Given the description of an element on the screen output the (x, y) to click on. 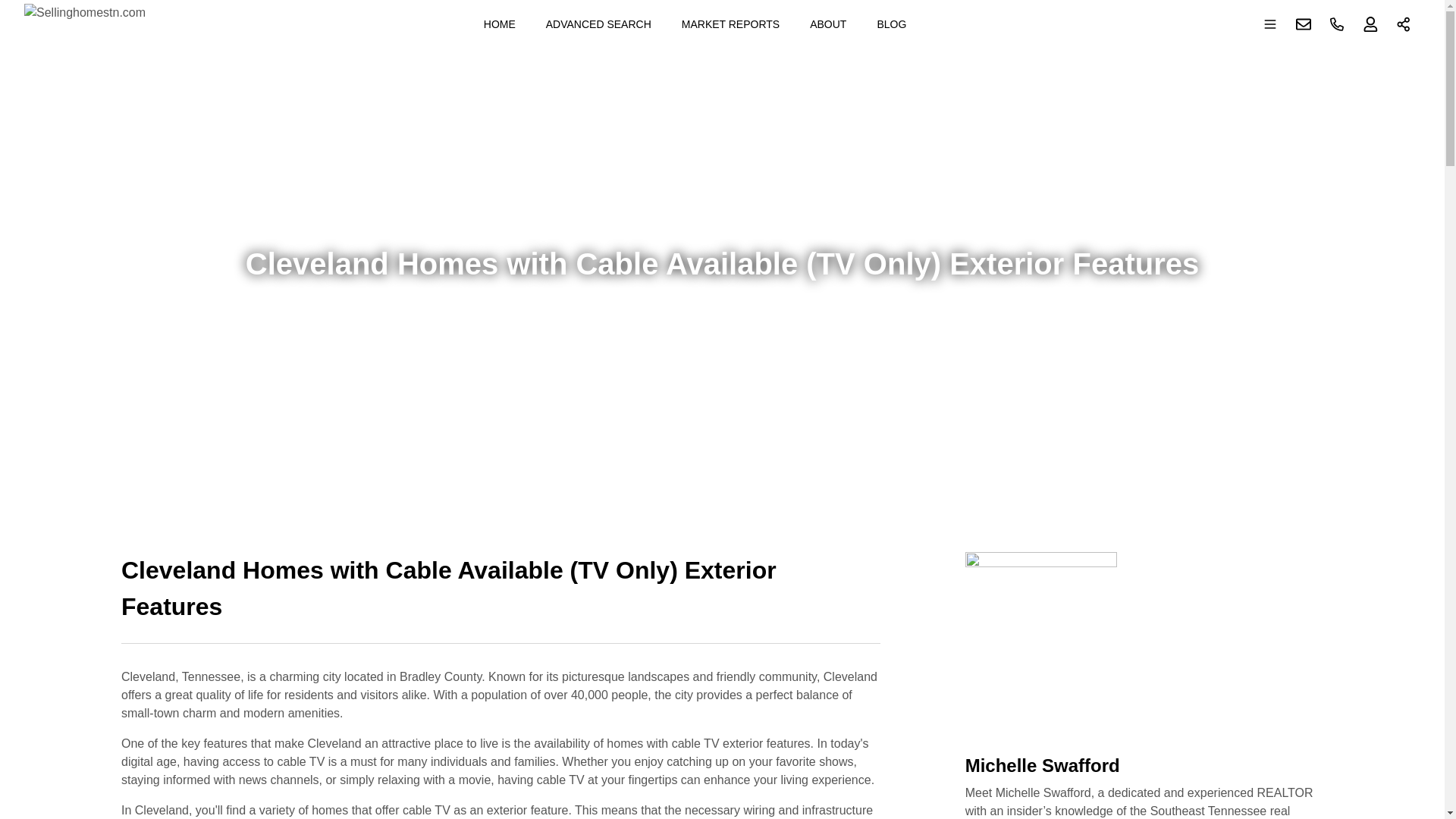
Sign up or Sign in (1370, 23)
Phone number (1337, 23)
Contact us (1303, 23)
ABOUT (828, 24)
BLOG (891, 24)
Open main menu (1270, 23)
MARKET REPORTS (730, 24)
HOME (499, 24)
ADVANCED SEARCH (599, 24)
Sellinghomestn.com (84, 24)
Share (1404, 23)
